Given the description of an element on the screen output the (x, y) to click on. 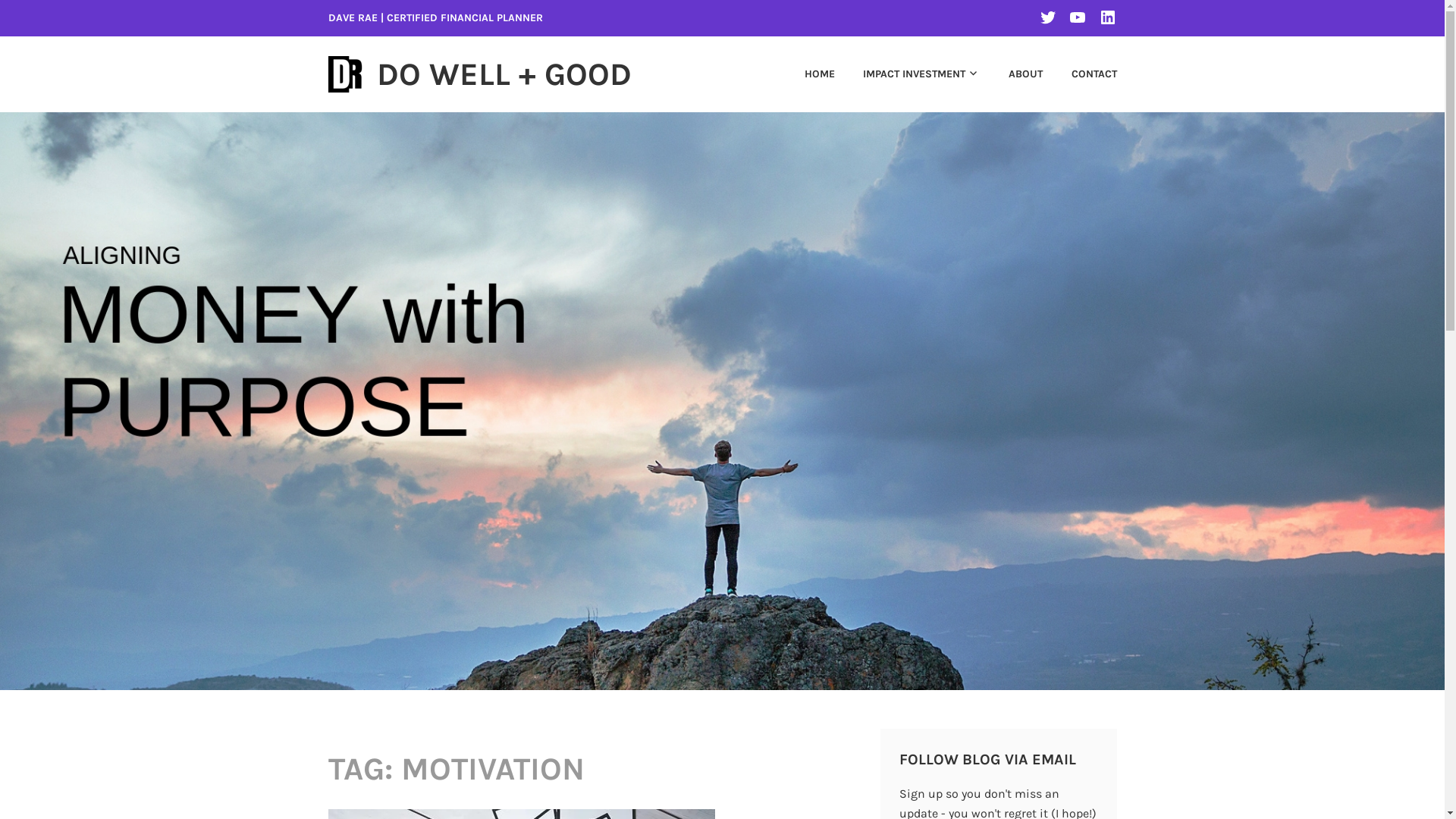
IMPACT INVESTMENT Element type: text (908, 73)
DO WELL + GOOD Element type: text (503, 74)
YOUTUBE Element type: text (1077, 16)
CONTACT Element type: text (1081, 73)
TWITTER Element type: text (1047, 16)
HOME Element type: text (806, 73)
ABOUT Element type: text (1012, 73)
LINKEDIN Element type: text (1107, 16)
